Given the description of an element on the screen output the (x, y) to click on. 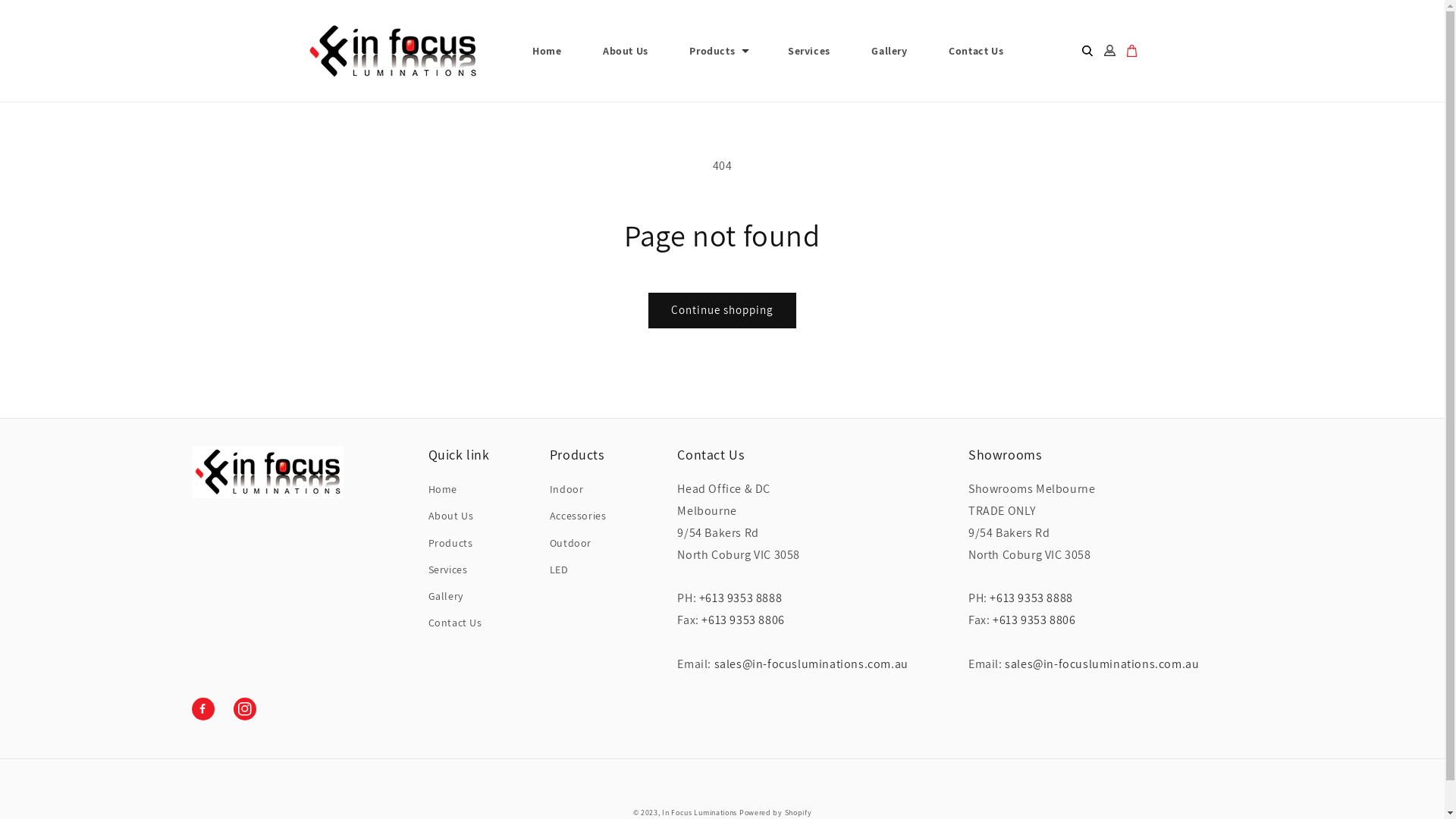
sales@in-focusluminations.com.au Element type: text (811, 663)
Powered by Shopify Element type: text (775, 812)
sales@in-focusluminations.com.au Element type: text (1101, 663)
+613 9353 8806 Element type: text (754, 630)
Gallery Element type: text (889, 50)
Instagram Element type: text (244, 708)
Cart Element type: text (1131, 50)
About Us Element type: text (625, 50)
+613 9353 8888 Element type: text (740, 597)
Products Element type: text (711, 50)
Services Element type: text (447, 569)
Products Element type: text (450, 543)
Contact Us Element type: text (455, 622)
In Focus Luminations Element type: text (699, 812)
Home Element type: text (546, 50)
Contact Us Element type: text (975, 50)
+613 9353 8888 Element type: text (1030, 597)
About Us Element type: text (450, 515)
Services Element type: text (808, 50)
Continue shopping Element type: text (722, 310)
+613 9353 8806 Element type: text (1045, 630)
Home Element type: text (442, 491)
LED Element type: text (558, 569)
Indoor Element type: text (566, 491)
Outdoor Element type: text (570, 543)
Accessories Element type: text (577, 515)
Gallery Element type: text (445, 596)
